Given the description of an element on the screen output the (x, y) to click on. 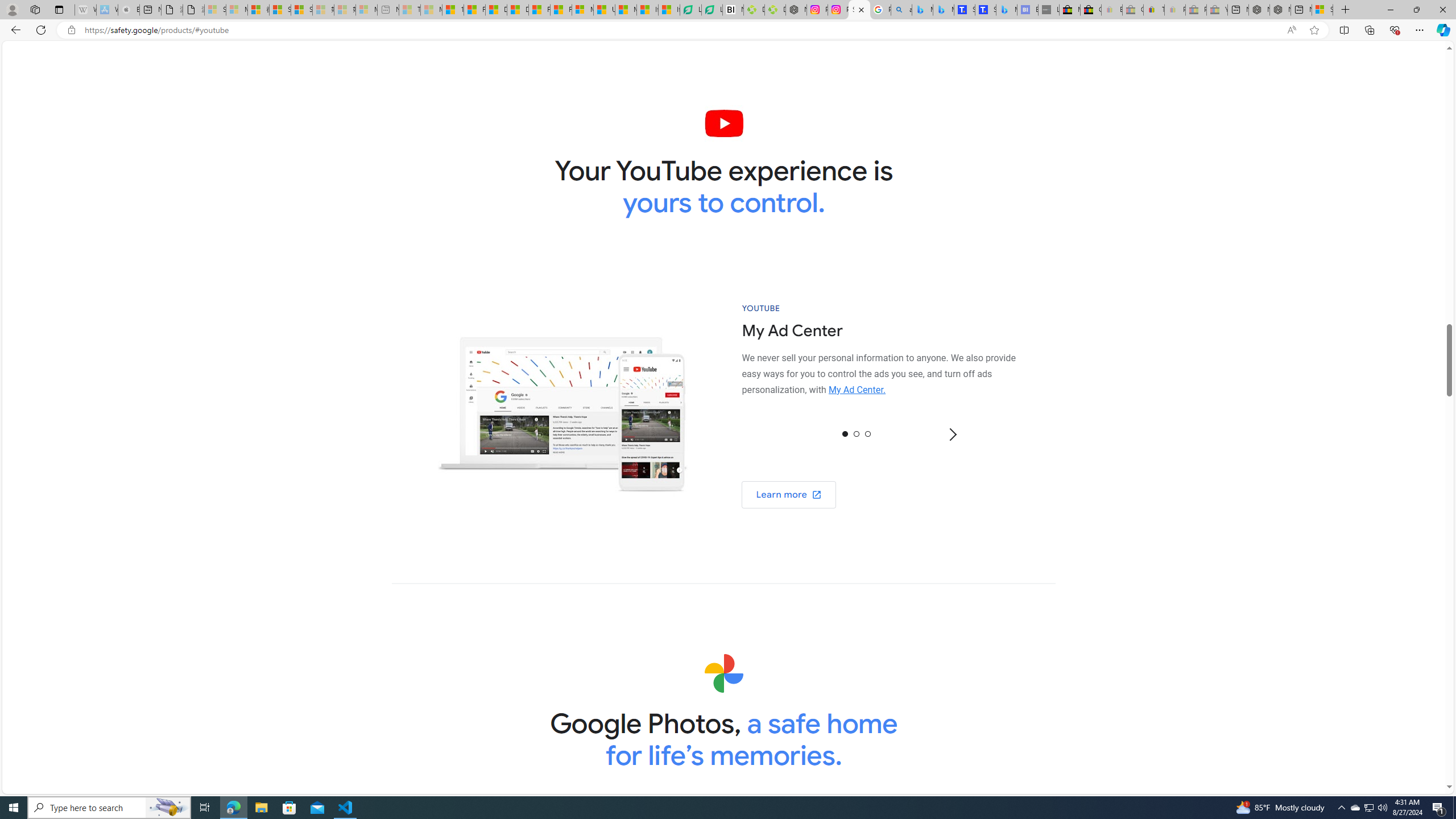
Next (952, 434)
alabama high school quarterback dies - Search (901, 9)
Microsoft Bing Travel - Flights from Hong Kong to Bangkok (922, 9)
Sign in to your Microsoft account - Sleeping (215, 9)
Buy iPad - Apple - Sleeping (128, 9)
Yard, Garden & Outdoor Living - Sleeping (1216, 9)
